Given the description of an element on the screen output the (x, y) to click on. 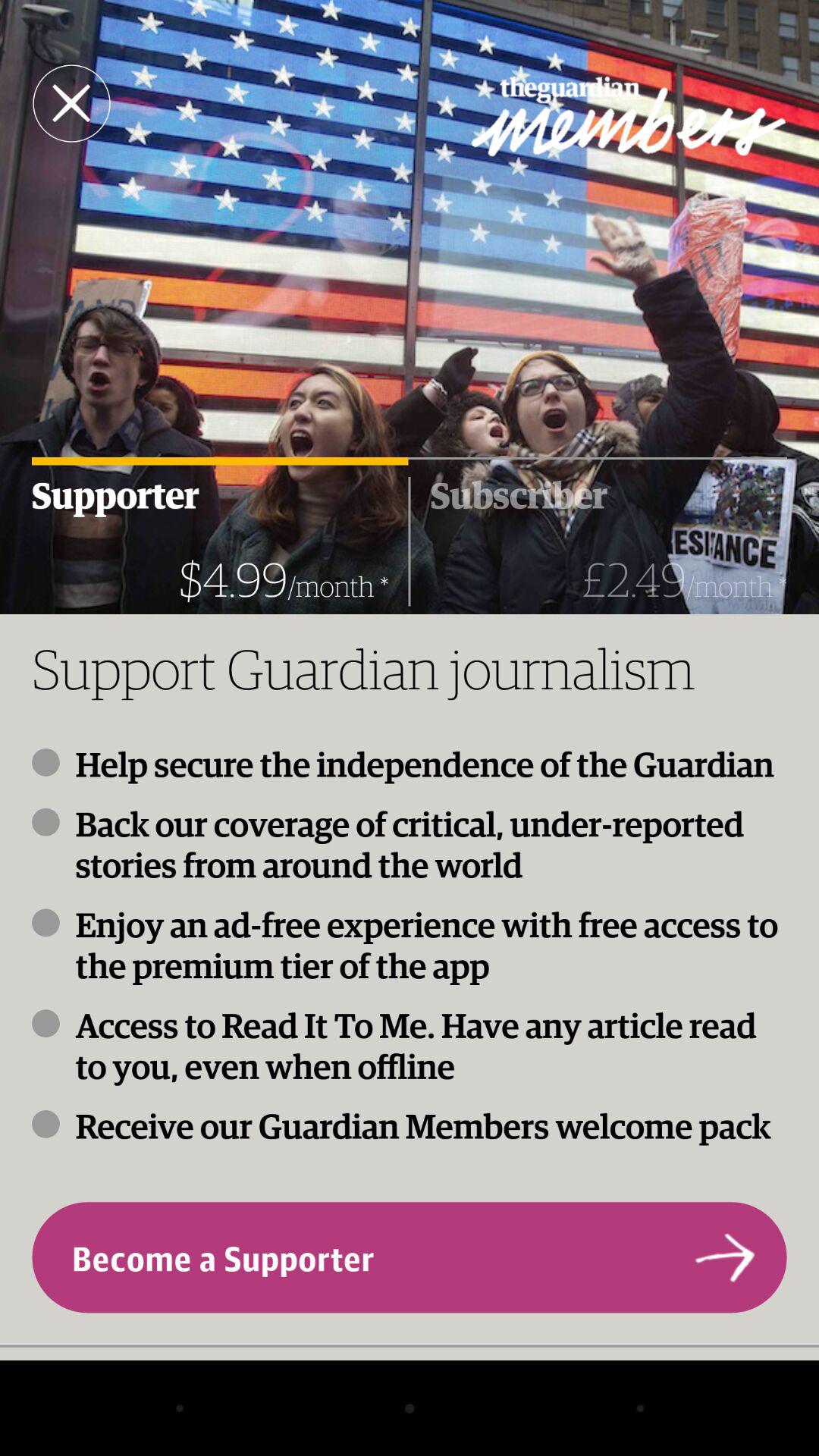
close this offer (71, 103)
